Given the description of an element on the screen output the (x, y) to click on. 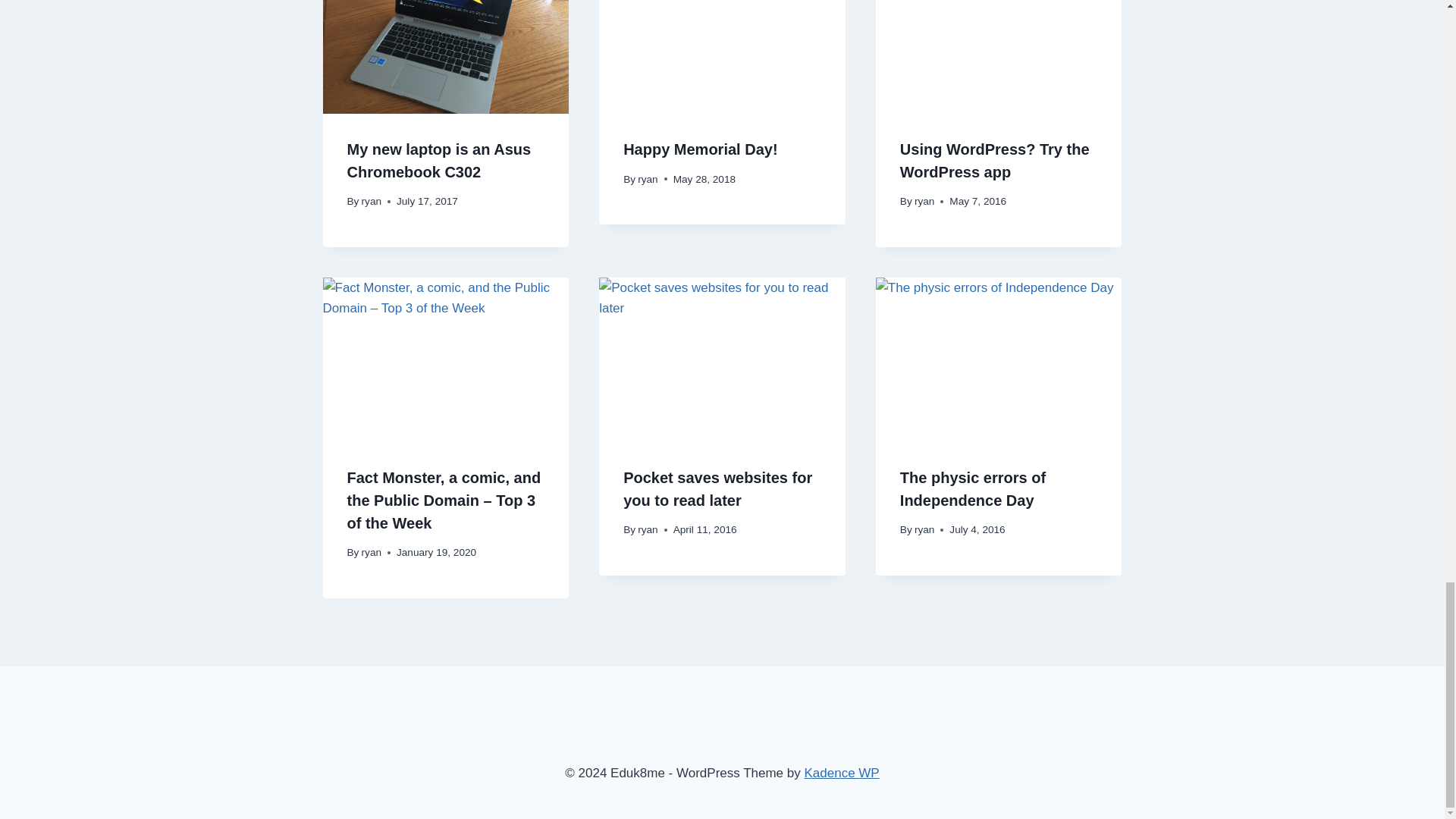
Happy Memorial Day! (700, 149)
ryan (371, 201)
ryan (647, 179)
My new laptop is an Asus Chromebook C302 (439, 160)
